Given the description of an element on the screen output the (x, y) to click on. 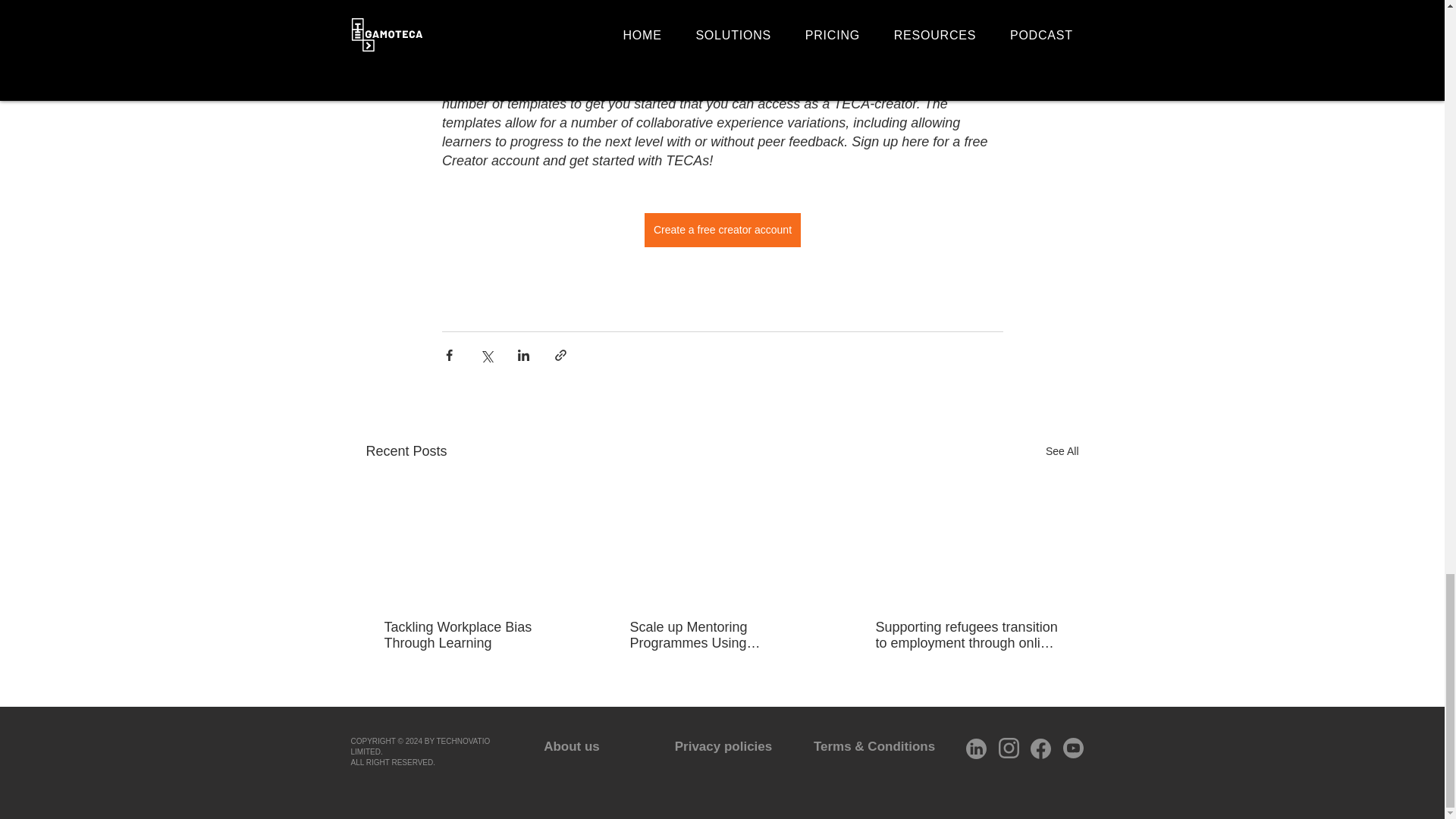
Create a free creator account (721, 229)
See All (1061, 451)
Tackling Workplace Bias Through Learning (475, 635)
